Given the description of an element on the screen output the (x, y) to click on. 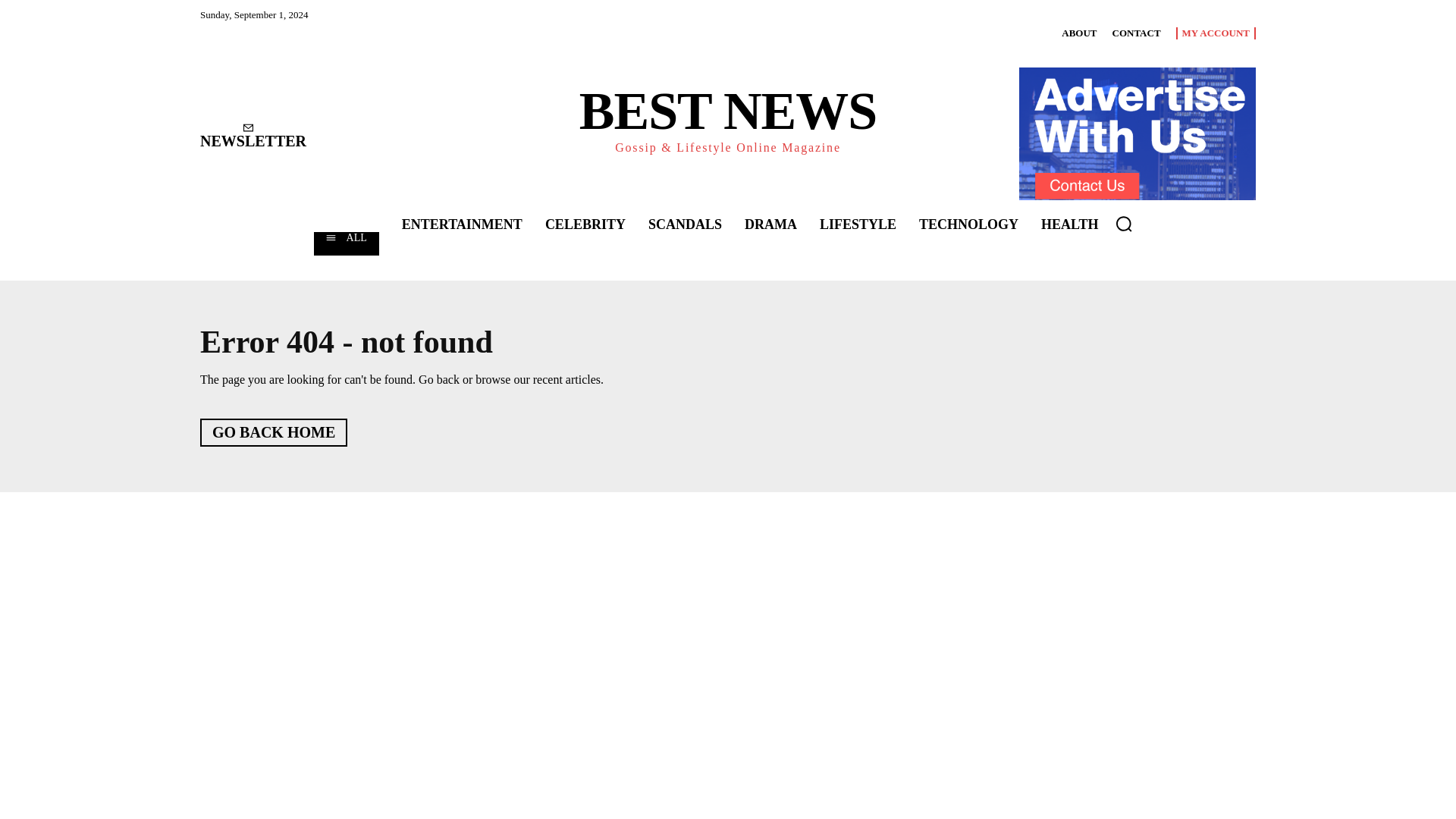
ABOUT (1078, 33)
CONTACT (1136, 33)
ALL (346, 243)
Newsletter (252, 135)
NEWSLETTER (252, 135)
All (346, 243)
